Given the description of an element on the screen output the (x, y) to click on. 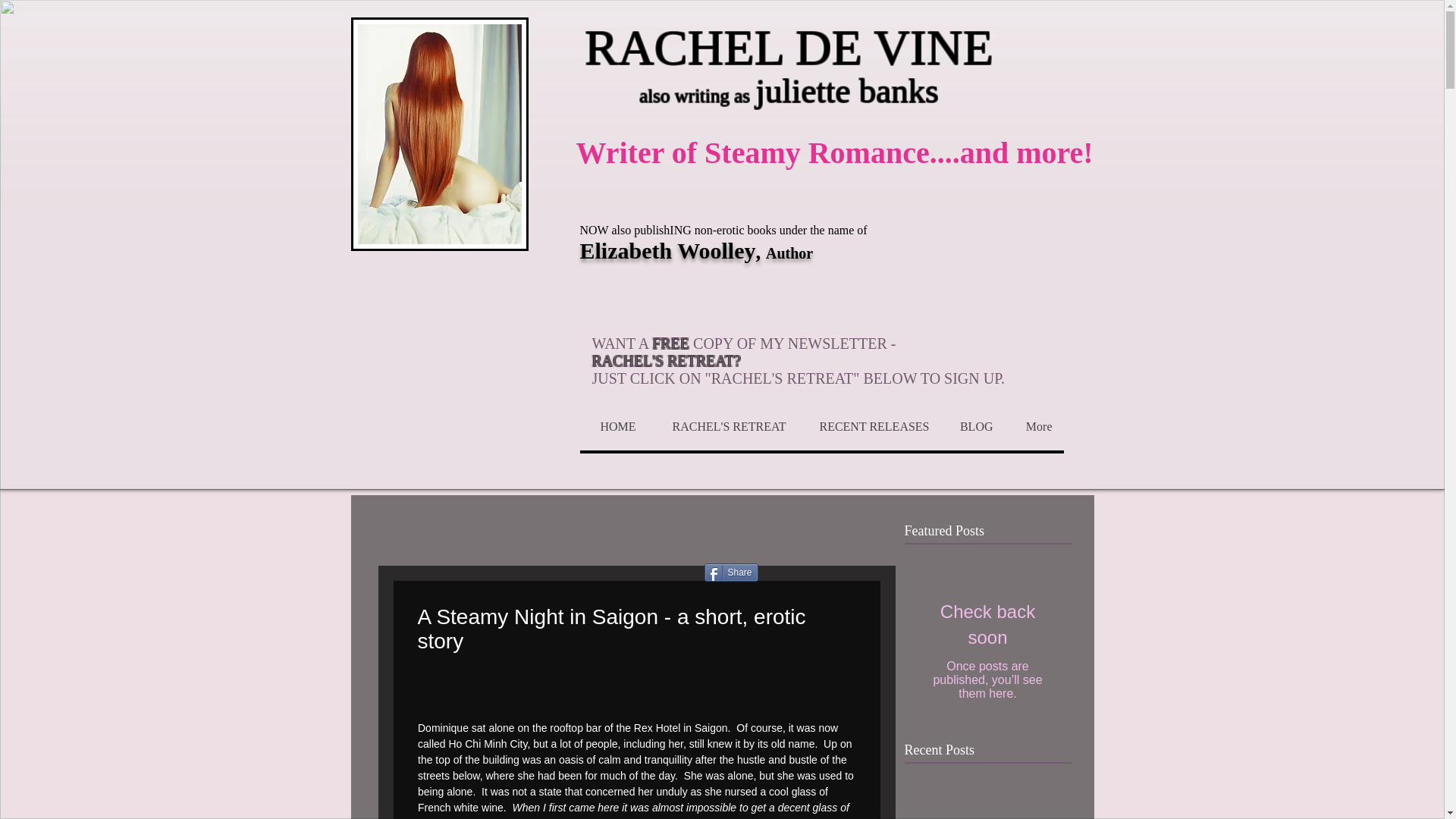
RECENT RELEASES (868, 426)
BLOG (972, 426)
Share (730, 572)
RACHEL'S RETREAT (722, 426)
HOME (612, 426)
Share (730, 572)
